Given the description of an element on the screen output the (x, y) to click on. 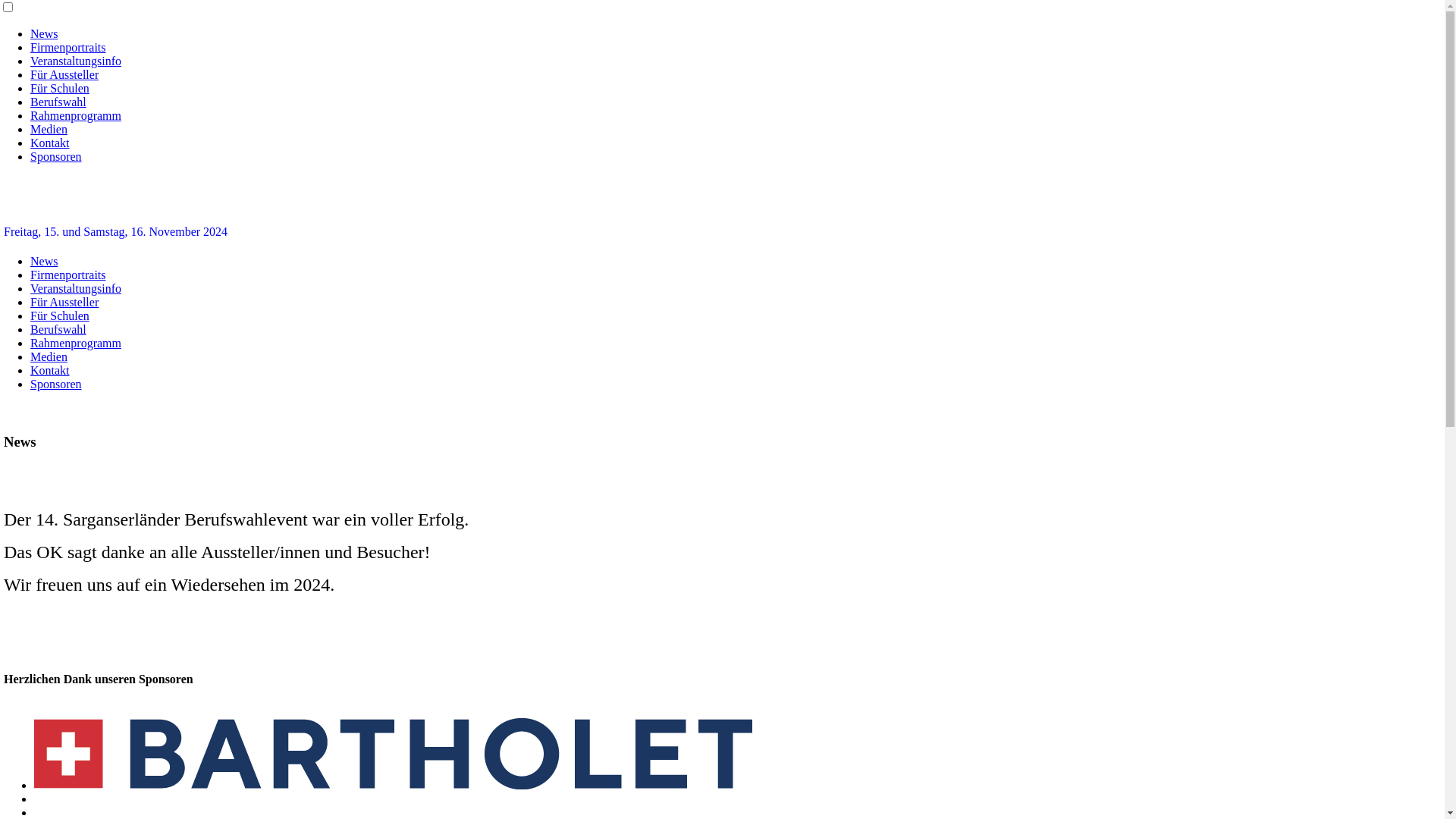
Berufswahl Element type: text (58, 101)
Medien Element type: text (48, 128)
Rahmenprogramm Element type: text (75, 115)
Kontakt Element type: text (49, 142)
Kontakt Element type: text (49, 370)
Veranstaltungsinfo Element type: text (75, 288)
Veranstaltungsinfo Element type: text (75, 60)
Rahmenprogramm Element type: text (75, 342)
Firmenportraits Element type: text (68, 46)
Berufswahl Element type: text (58, 329)
Firmenportraits Element type: text (68, 274)
Sponsoren Element type: text (55, 156)
News Element type: text (43, 260)
Sponsoren Element type: text (55, 383)
Medien Element type: text (48, 356)
Freitag, 15. und Samstag, 16. November 2024 Element type: text (115, 231)
News Element type: text (43, 33)
